Given the description of an element on the screen output the (x, y) to click on. 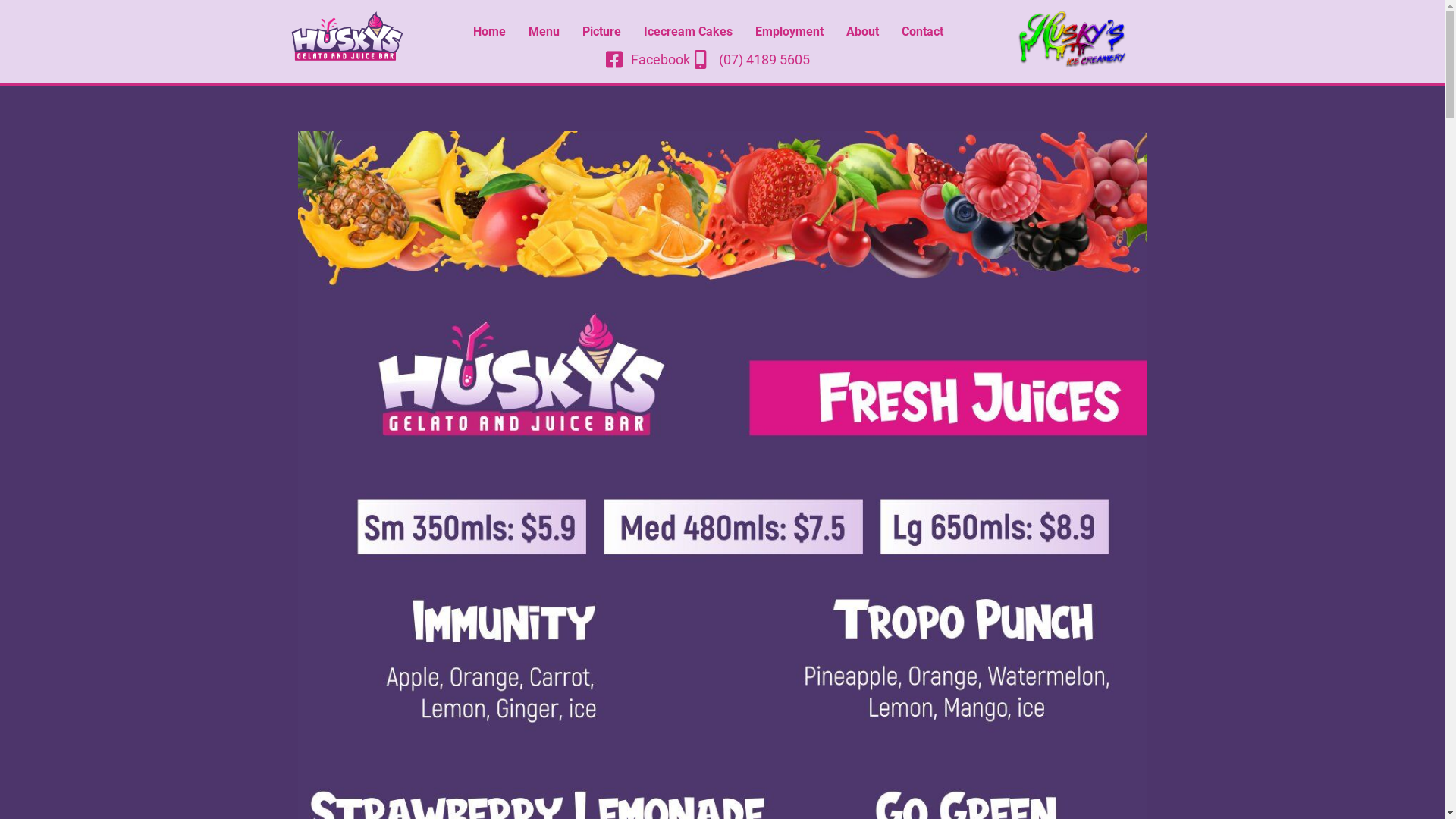
Facebook Element type: text (647, 58)
Home Element type: text (489, 30)
Menu Element type: text (544, 30)
Icecream Cakes Element type: text (687, 30)
Contact Element type: text (922, 30)
Employment Element type: text (788, 30)
(07) 4189 5605 Element type: text (751, 58)
Picture Element type: text (601, 30)
About Element type: text (862, 30)
